Given the description of an element on the screen output the (x, y) to click on. 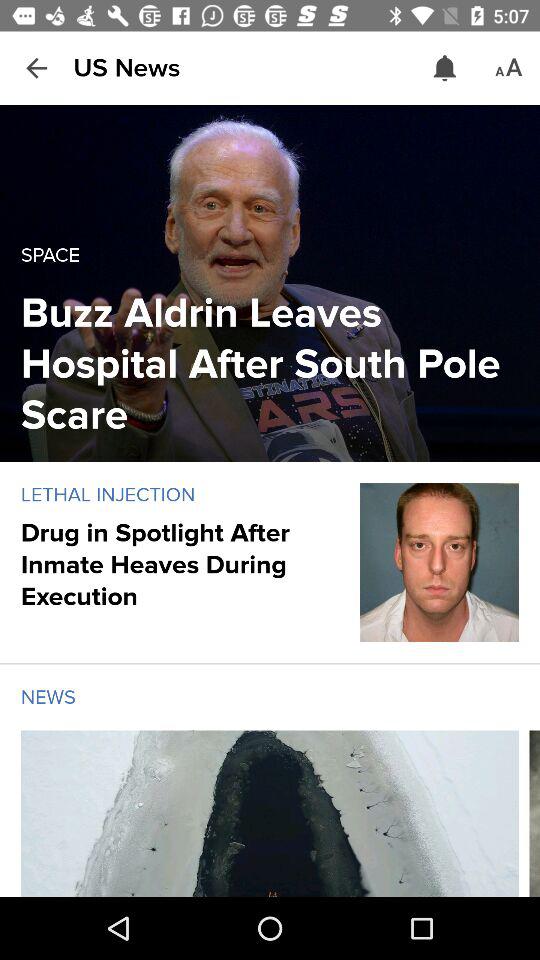
press the item next to the us news icon (36, 68)
